Given the description of an element on the screen output the (x, y) to click on. 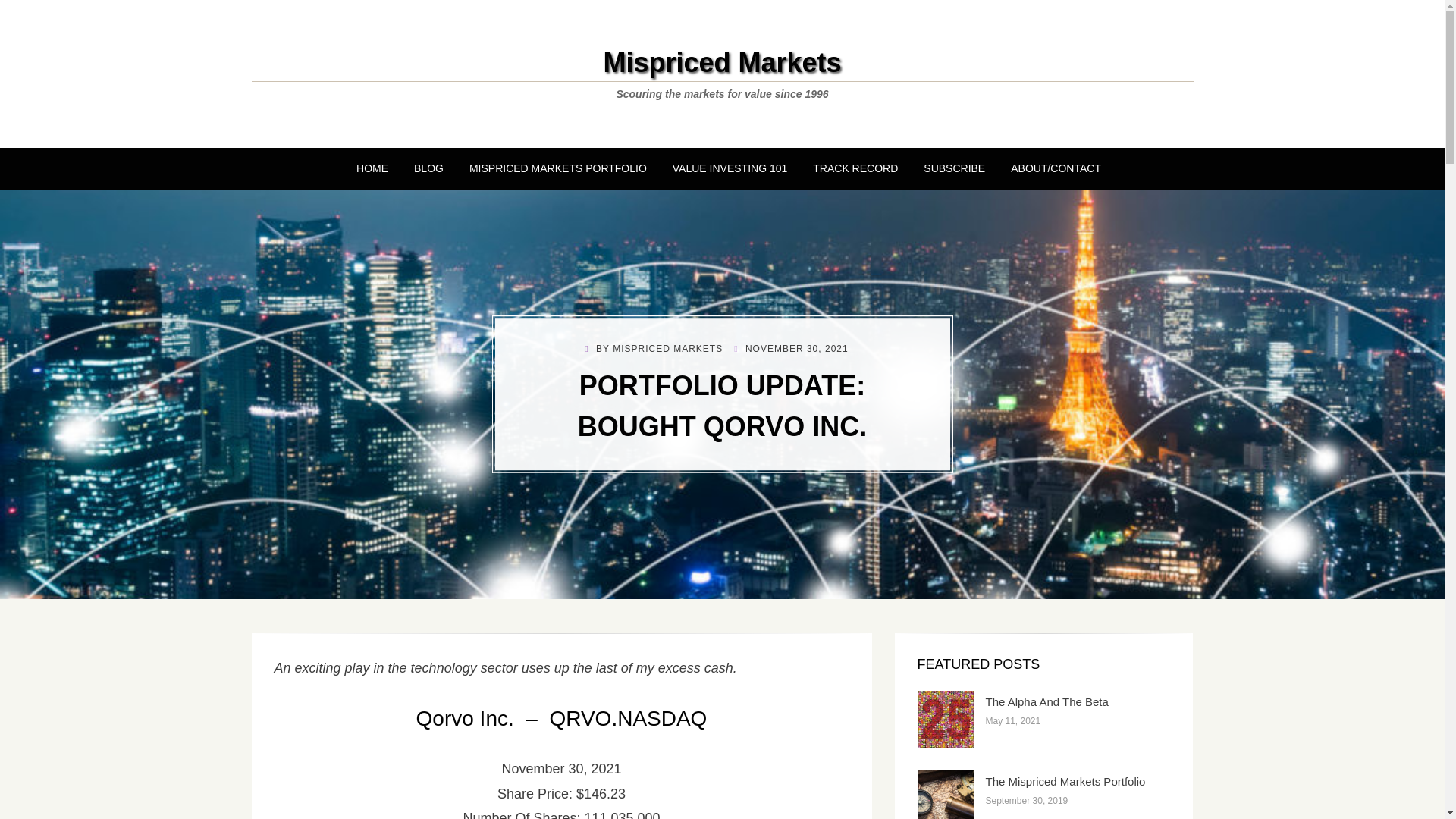
Mispriced Markets (721, 61)
TRACK RECORD (855, 168)
The Mispriced Markets Portfolio (1065, 780)
The Alpha And The Beta (1046, 701)
Mispriced Markets (721, 61)
HOME (372, 168)
BLOG (429, 168)
NOVEMBER 30, 2021 (790, 348)
MISPRICED MARKETS PORTFOLIO (558, 168)
MISPRICED MARKETS (667, 348)
VALUE INVESTING 101 (729, 168)
SUBSCRIBE (954, 168)
